Given the description of an element on the screen output the (x, y) to click on. 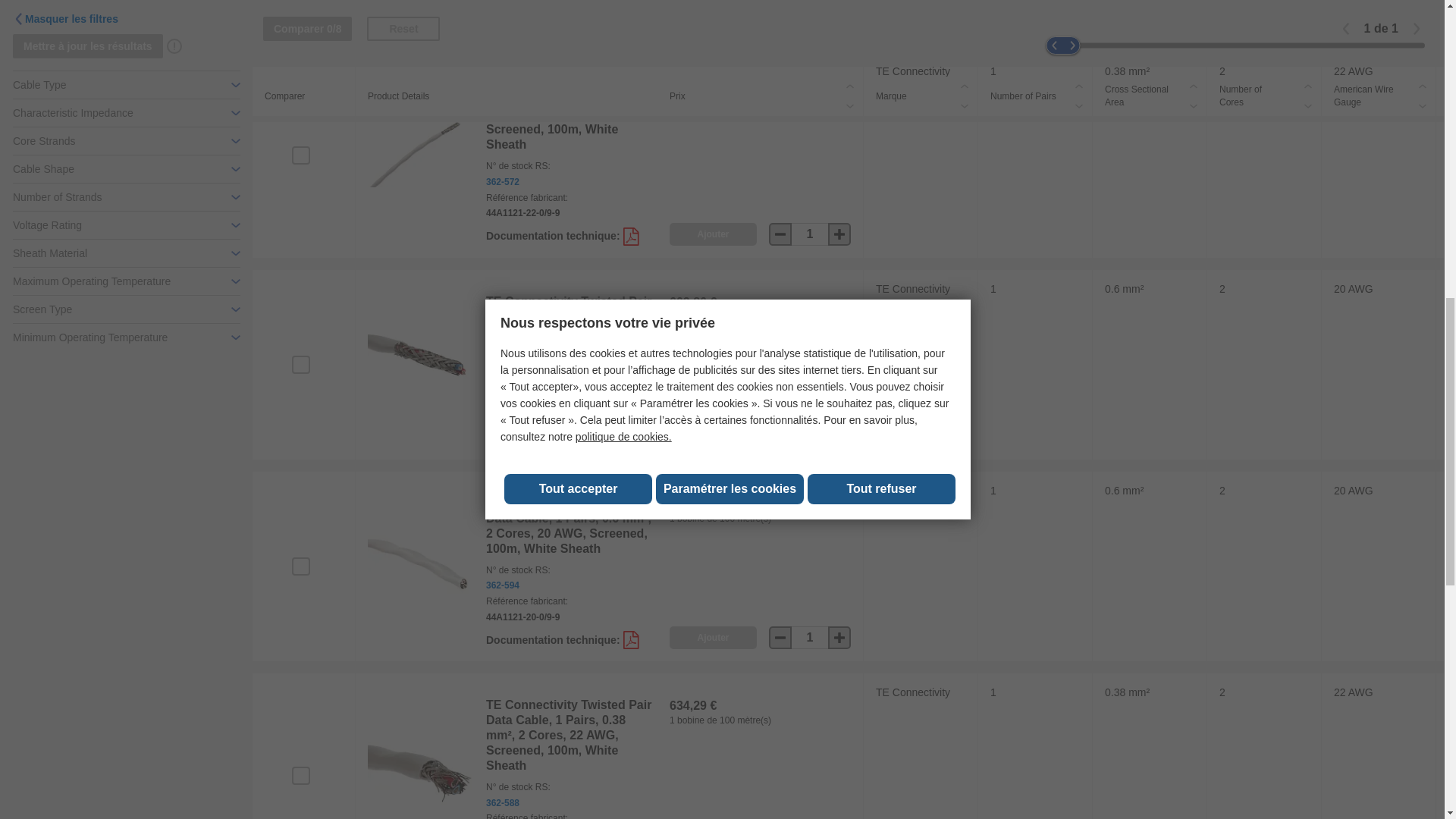
1 (810, 436)
1 (810, 15)
on (299, 364)
1 (810, 233)
on (299, 775)
on (299, 566)
on (299, 154)
1 (810, 637)
